Given the description of an element on the screen output the (x, y) to click on. 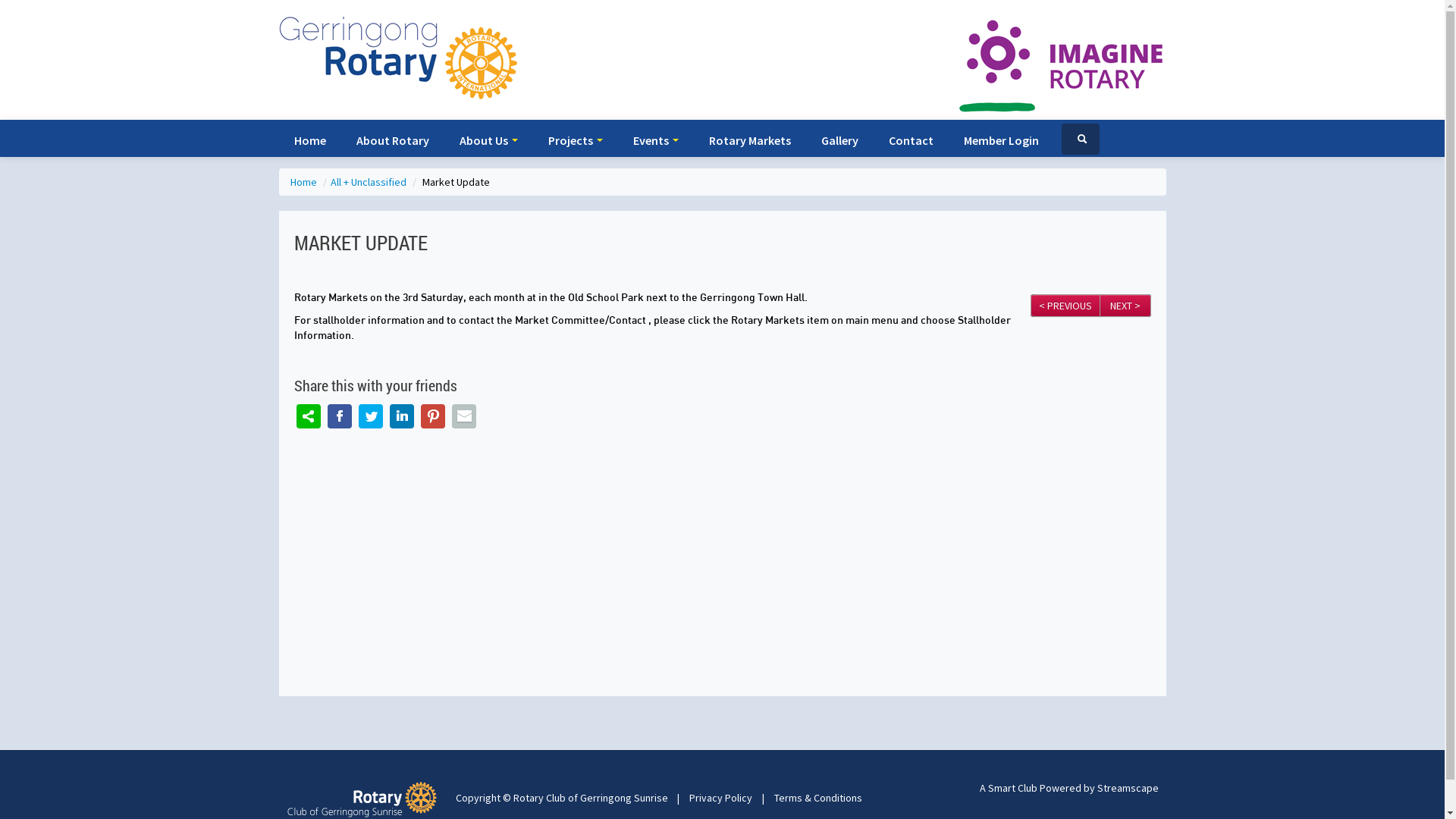
NEXT > Element type: text (1125, 305)
Contact Element type: text (910, 139)
About Us Element type: text (488, 139)
Events Element type: text (655, 139)
About Rotary Element type: text (392, 139)
Terms & Conditions Element type: text (817, 797)
Home Element type: text (303, 181)
< PREVIOUS Element type: text (1064, 305)
Privacy Policy Element type: text (719, 797)
Home Element type: text (310, 139)
A Smart Club Powered by Streamscape Element type: text (1068, 787)
Rotary Club of Gerringong Element type: hover (365, 798)
Gallery Element type: text (838, 139)
Projects Element type: text (574, 139)
Rotary Markets Element type: text (749, 139)
Member Login Element type: text (1000, 139)
All + Unclassified Element type: text (369, 181)
